Given the description of an element on the screen output the (x, y) to click on. 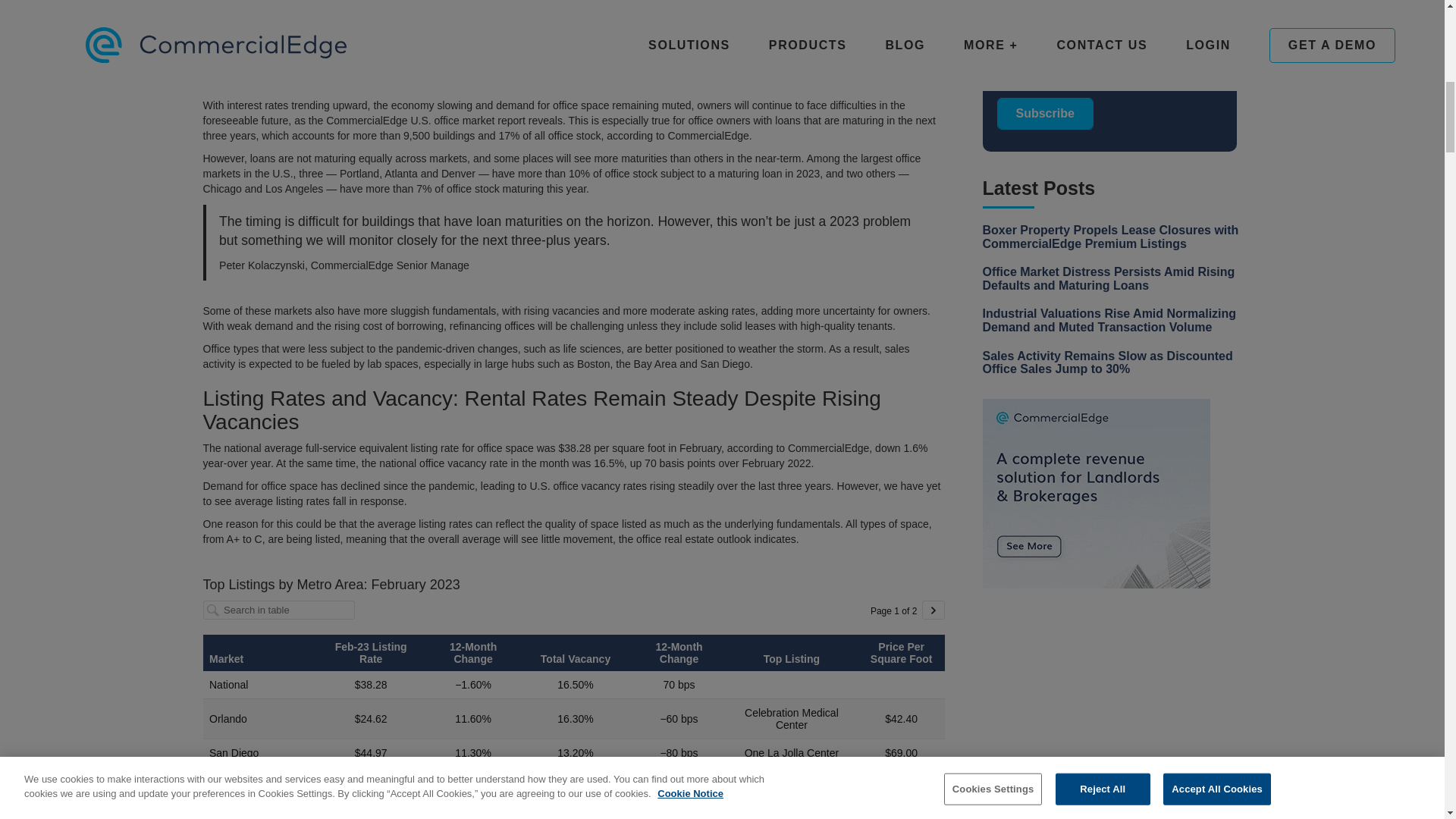
Subscribe (1045, 113)
